Given the description of an element on the screen output the (x, y) to click on. 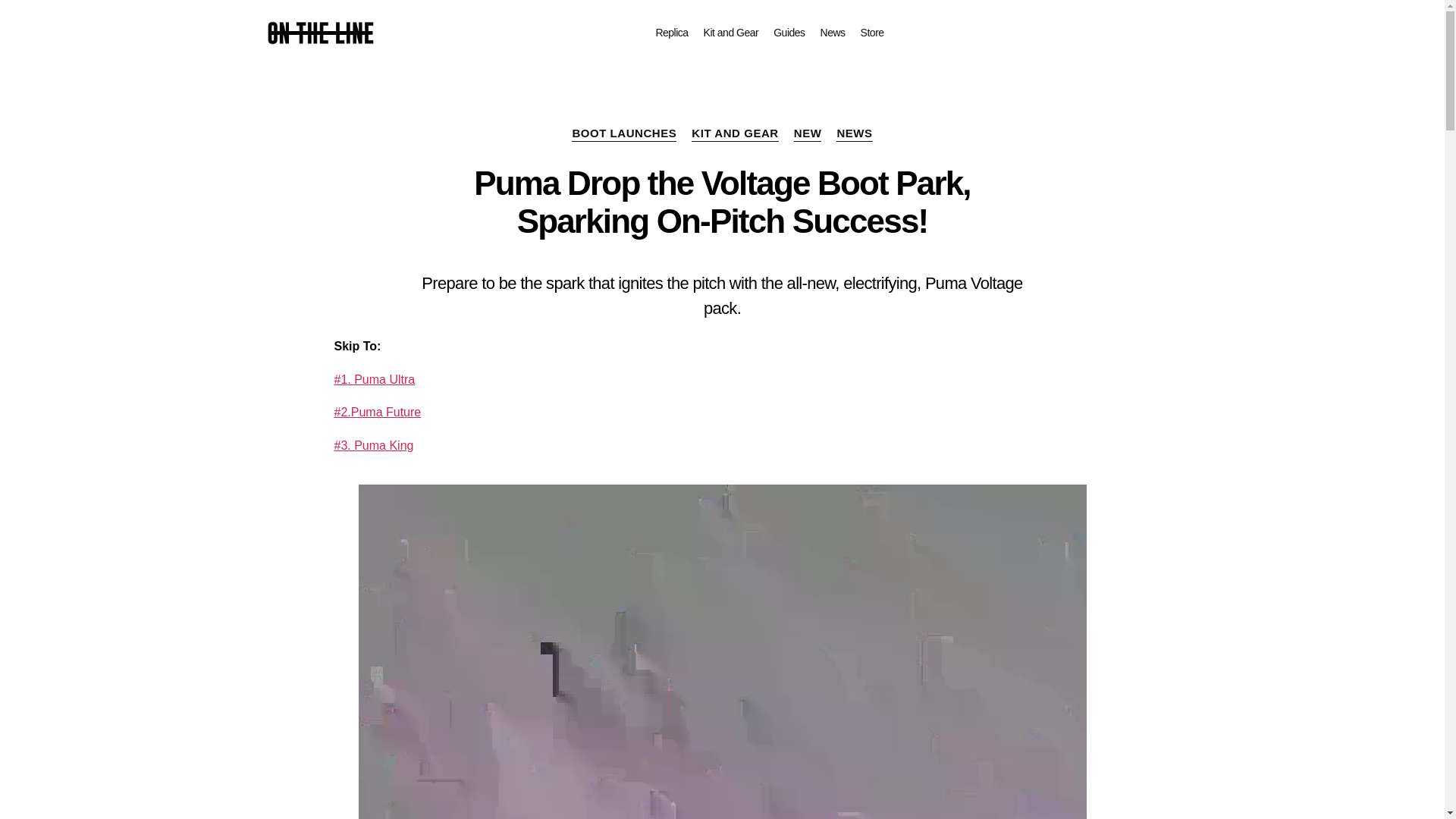
KIT AND GEAR (734, 133)
Kit and Gear (730, 32)
NEWS (853, 133)
Store (871, 32)
News (833, 32)
Guides (789, 32)
NEW (807, 133)
Replica (671, 32)
BOOT LAUNCHES (624, 133)
